Given the description of an element on the screen output the (x, y) to click on. 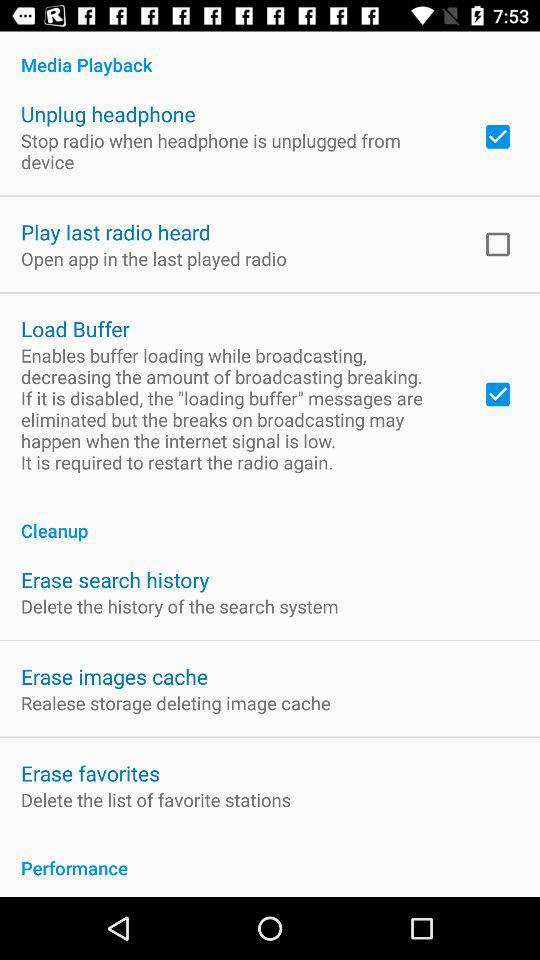
tap the item below the enables buffer loading (270, 520)
